Given the description of an element on the screen output the (x, y) to click on. 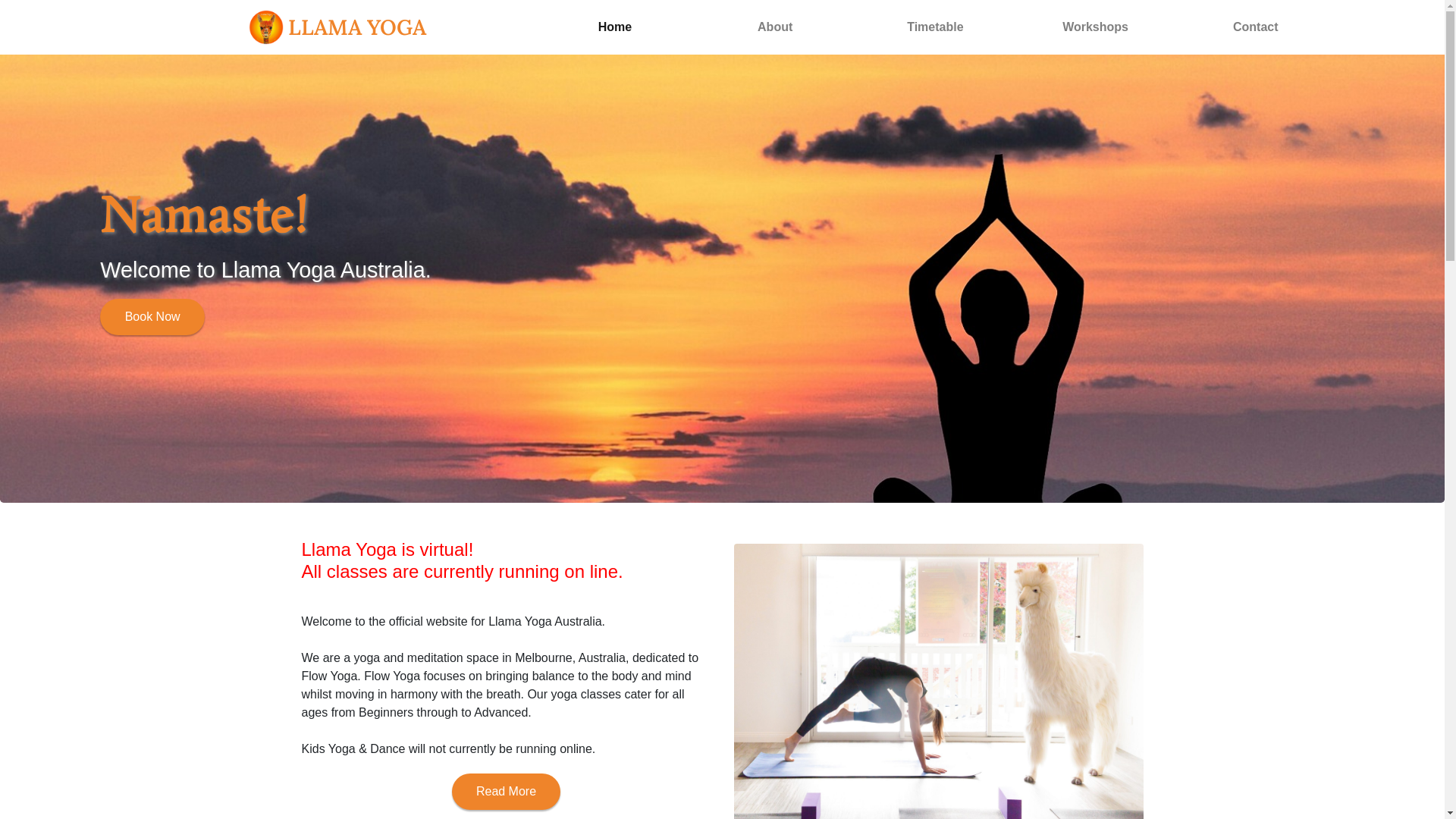
Book Now Element type: text (152, 316)
Contact Element type: text (1255, 27)
Timetable Element type: text (935, 27)
Home Element type: text (614, 27)
About Element type: text (775, 27)
Workshops Element type: text (1095, 27)
Read More Element type: text (506, 791)
